Given the description of an element on the screen output the (x, y) to click on. 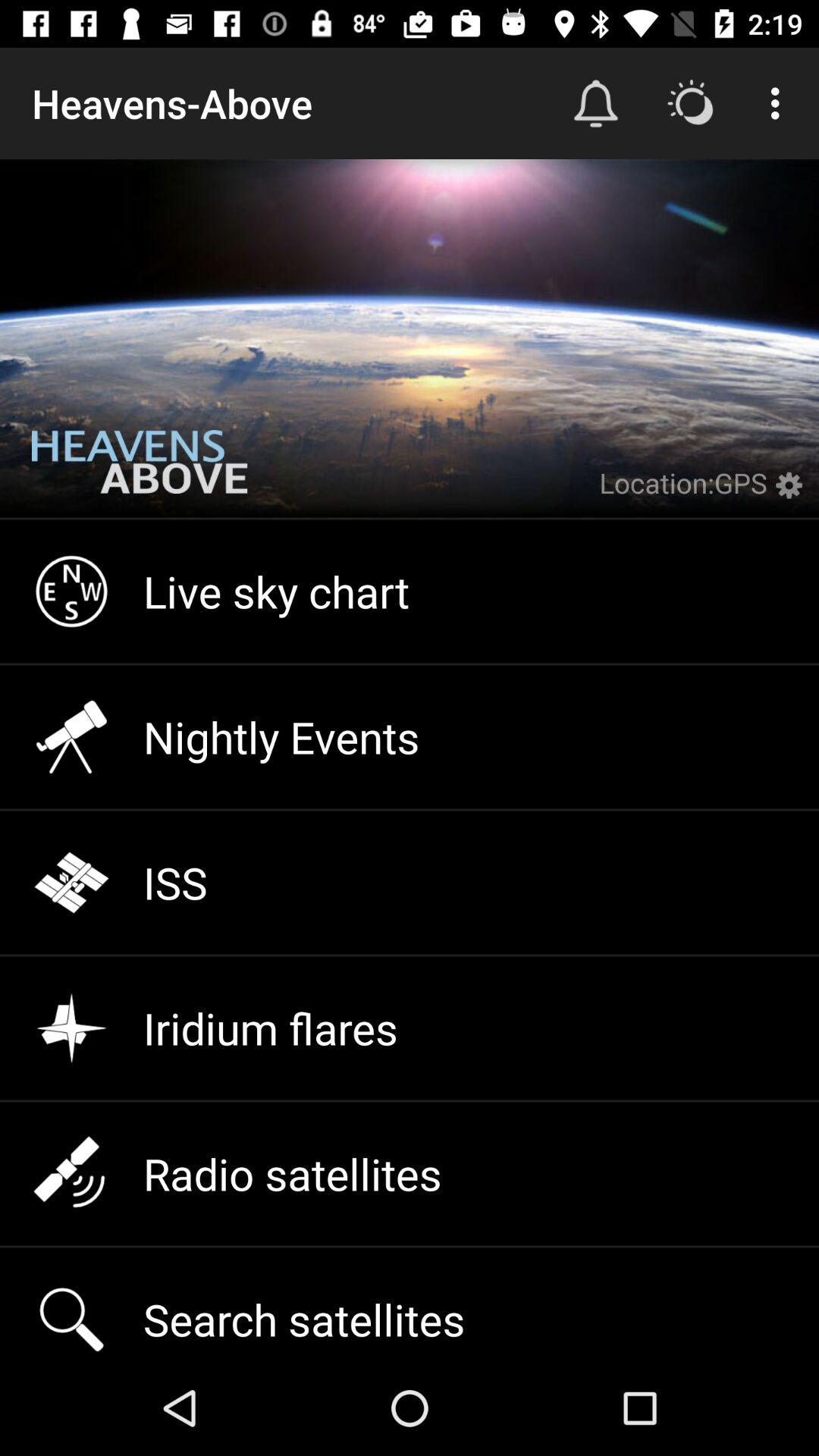
tap app below the heavens-above item (139, 473)
